Given the description of an element on the screen output the (x, y) to click on. 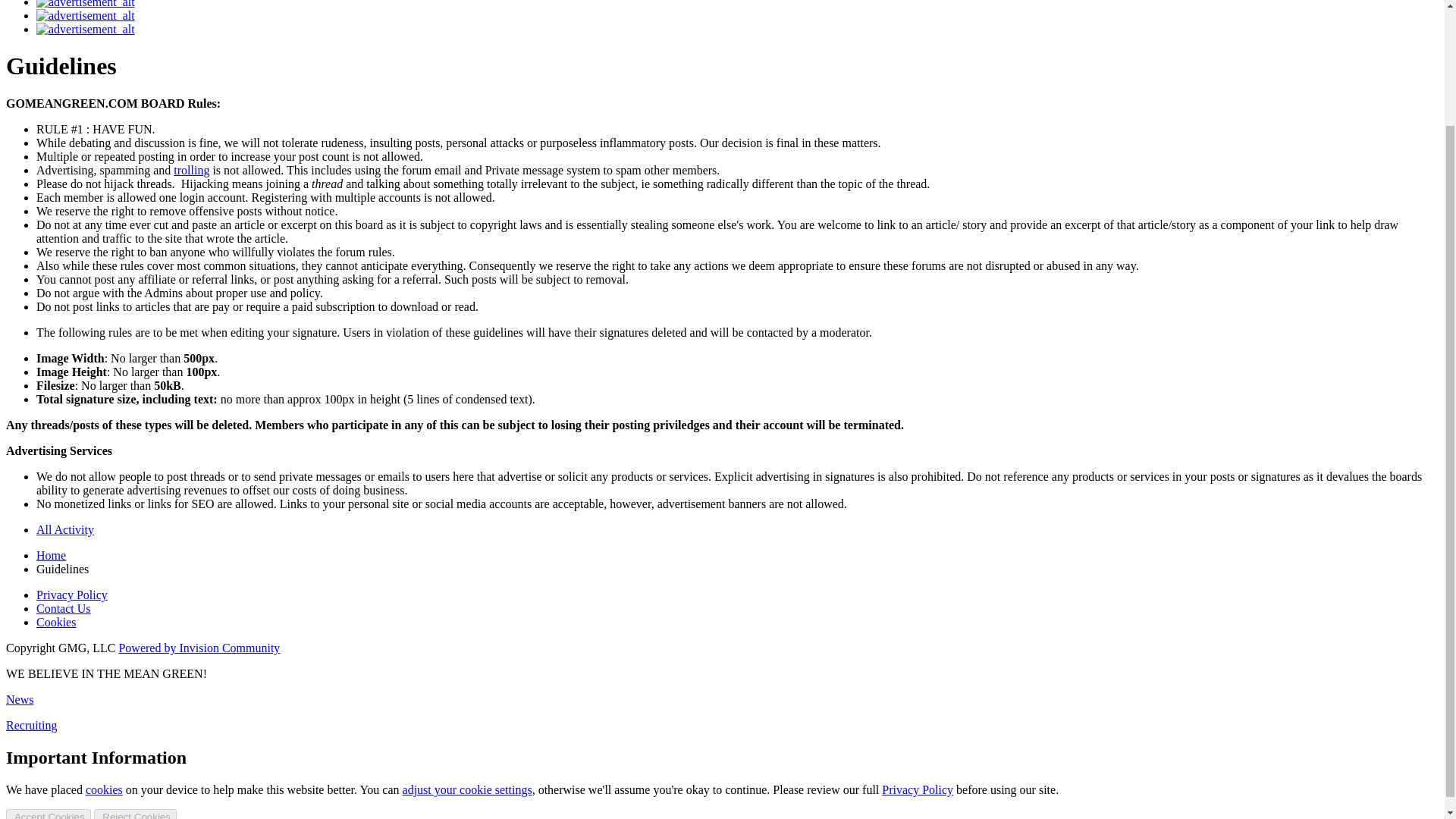
News (19, 698)
Powered by Invision Community (198, 647)
Invision Community (198, 647)
Privacy Policy (917, 789)
Contact Us (63, 608)
cookies (103, 789)
External link (191, 169)
All Activity (65, 529)
Cookies (55, 621)
Privacy Policy (71, 594)
